Given the description of an element on the screen output the (x, y) to click on. 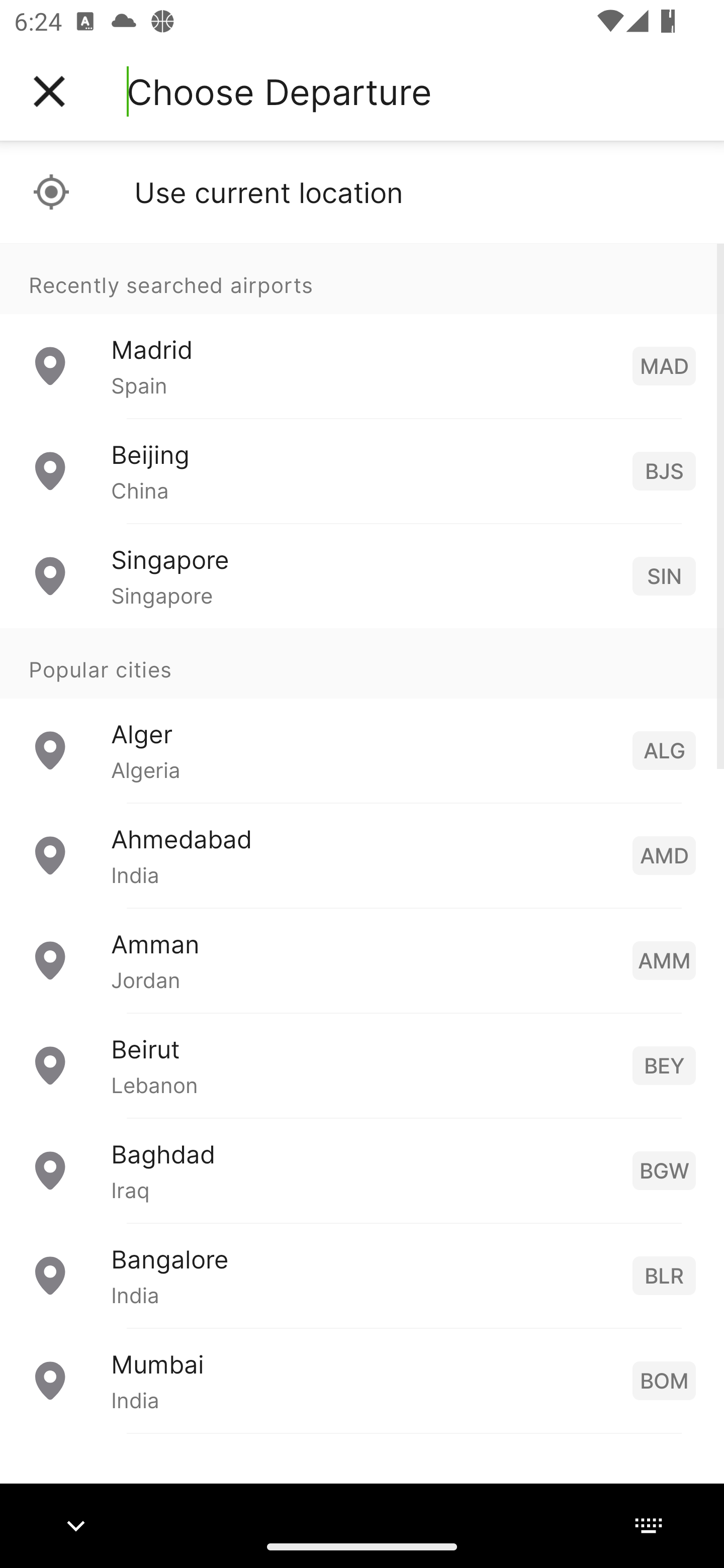
Choose Departure (279, 91)
Use current location (362, 192)
Recently searched airports Madrid Spain MAD (362, 330)
Recently searched airports (362, 278)
Beijing China BJS (362, 470)
Singapore Singapore SIN (362, 575)
Popular cities Alger Algeria ALG (362, 715)
Popular cities (362, 663)
Ahmedabad India AMD (362, 854)
Amman Jordan AMM (362, 959)
Beirut Lebanon BEY (362, 1064)
Baghdad Iraq BGW (362, 1170)
Bangalore India BLR (362, 1275)
Mumbai India BOM (362, 1380)
